Given the description of an element on the screen output the (x, y) to click on. 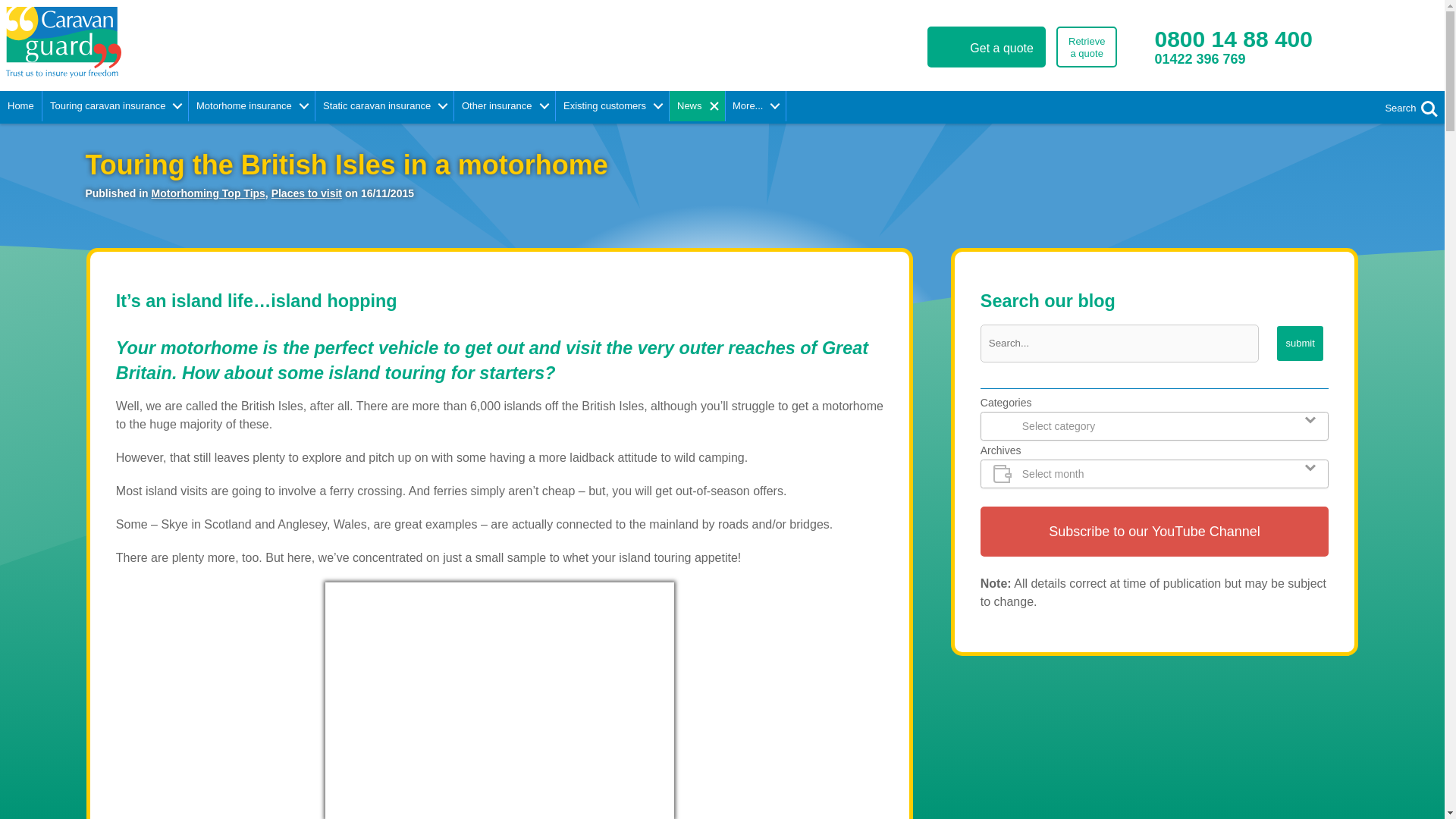
quote (986, 46)
0800 14 88 400 (1233, 38)
Home (1086, 46)
Caravan Guard (21, 105)
Ventnor, Isle of Wight (221, 42)
submit (499, 700)
Touring caravan insurance (1299, 343)
01422 396 769 (115, 105)
